Given the description of an element on the screen output the (x, y) to click on. 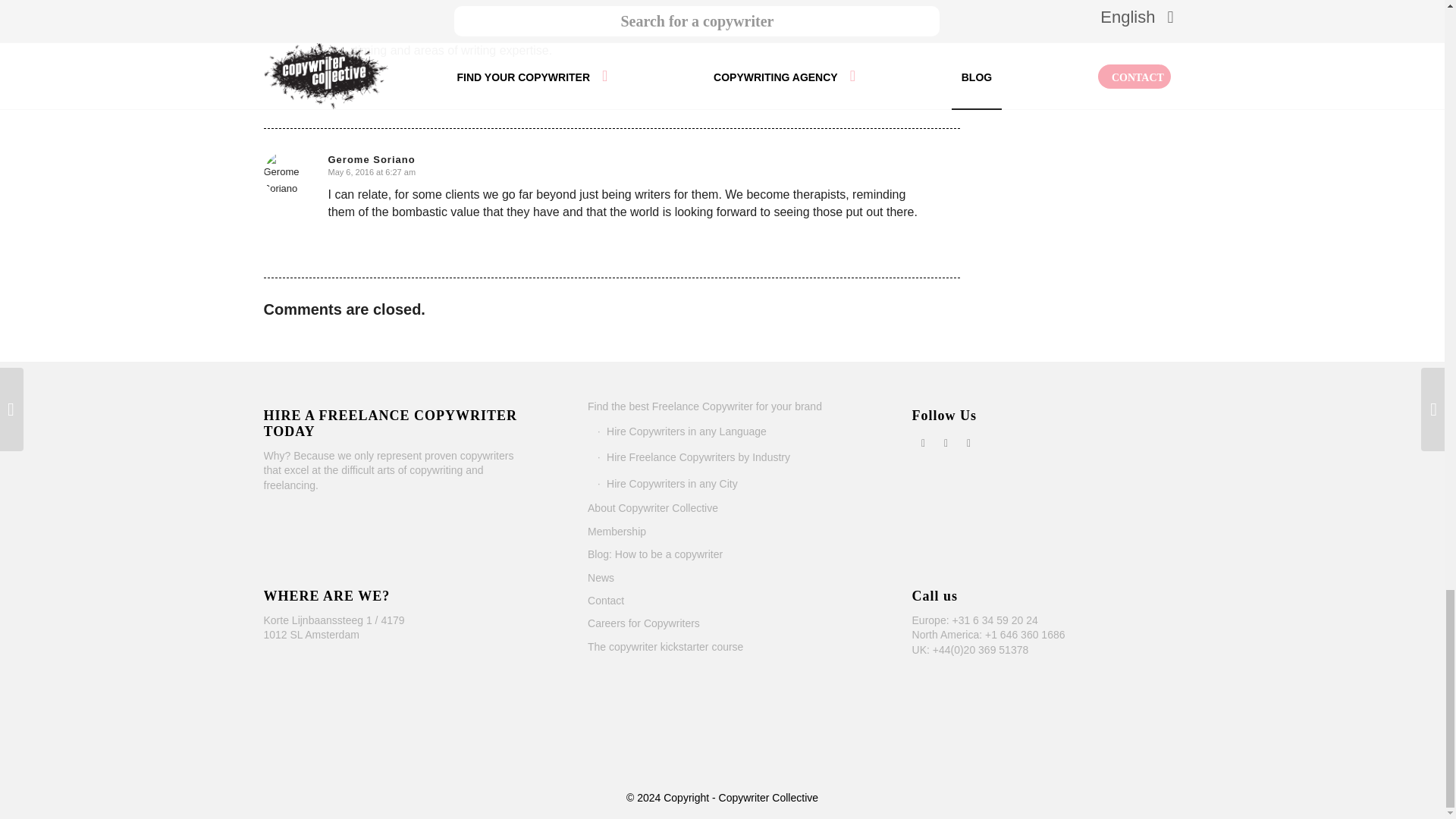
Twitter (946, 442)
Linkedin (968, 442)
Facebook (923, 442)
May 6, 2016 at 6:27 am (370, 171)
